Given the description of an element on the screen output the (x, y) to click on. 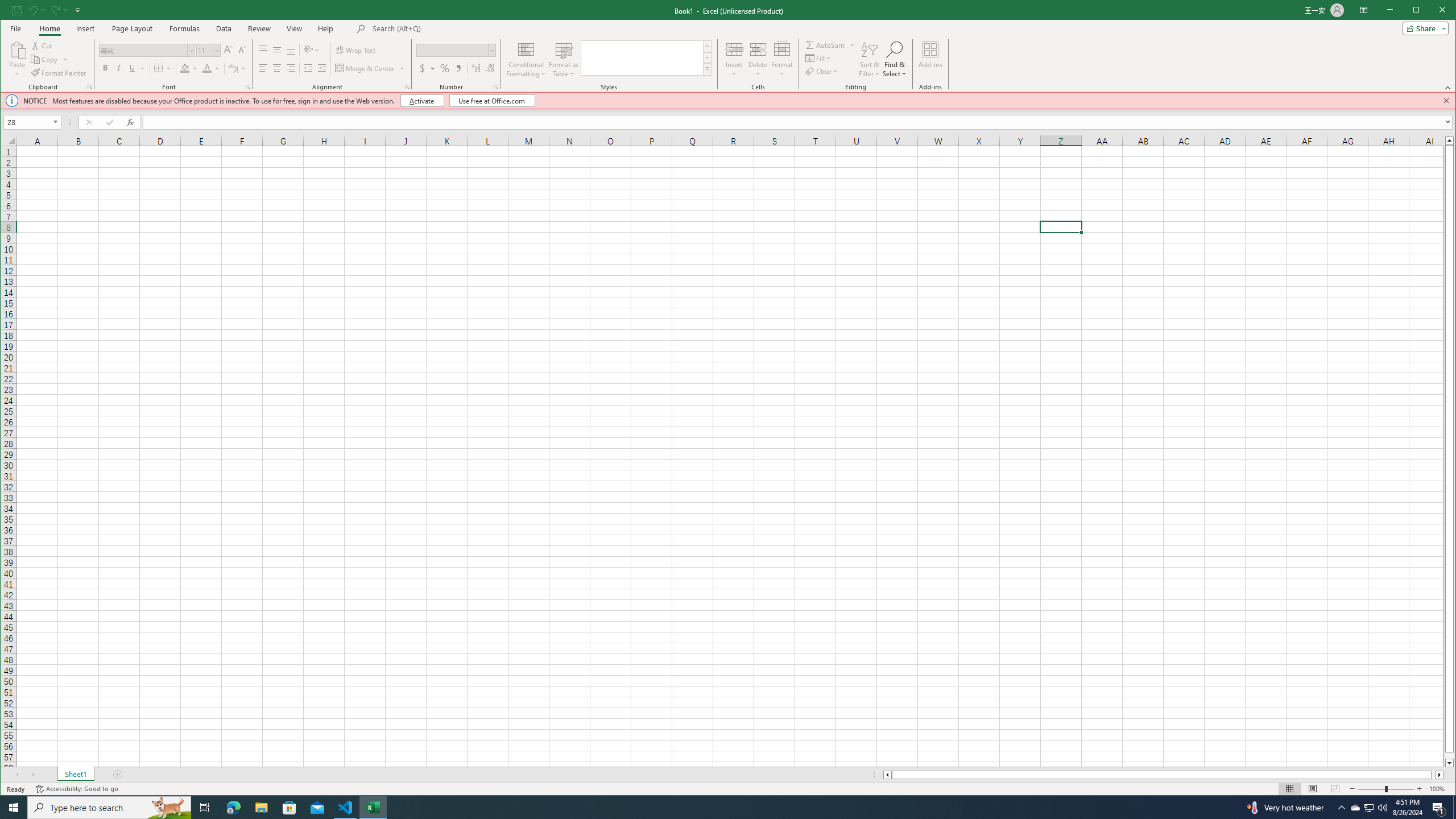
Borders (162, 68)
Cut (42, 45)
Copy (49, 59)
Use free at Office.com (492, 100)
Underline (136, 68)
Increase Decimal (475, 68)
Bottom Align (290, 49)
Merge & Center (370, 68)
Percent Style (444, 68)
Format Cell Alignment (407, 86)
